Given the description of an element on the screen output the (x, y) to click on. 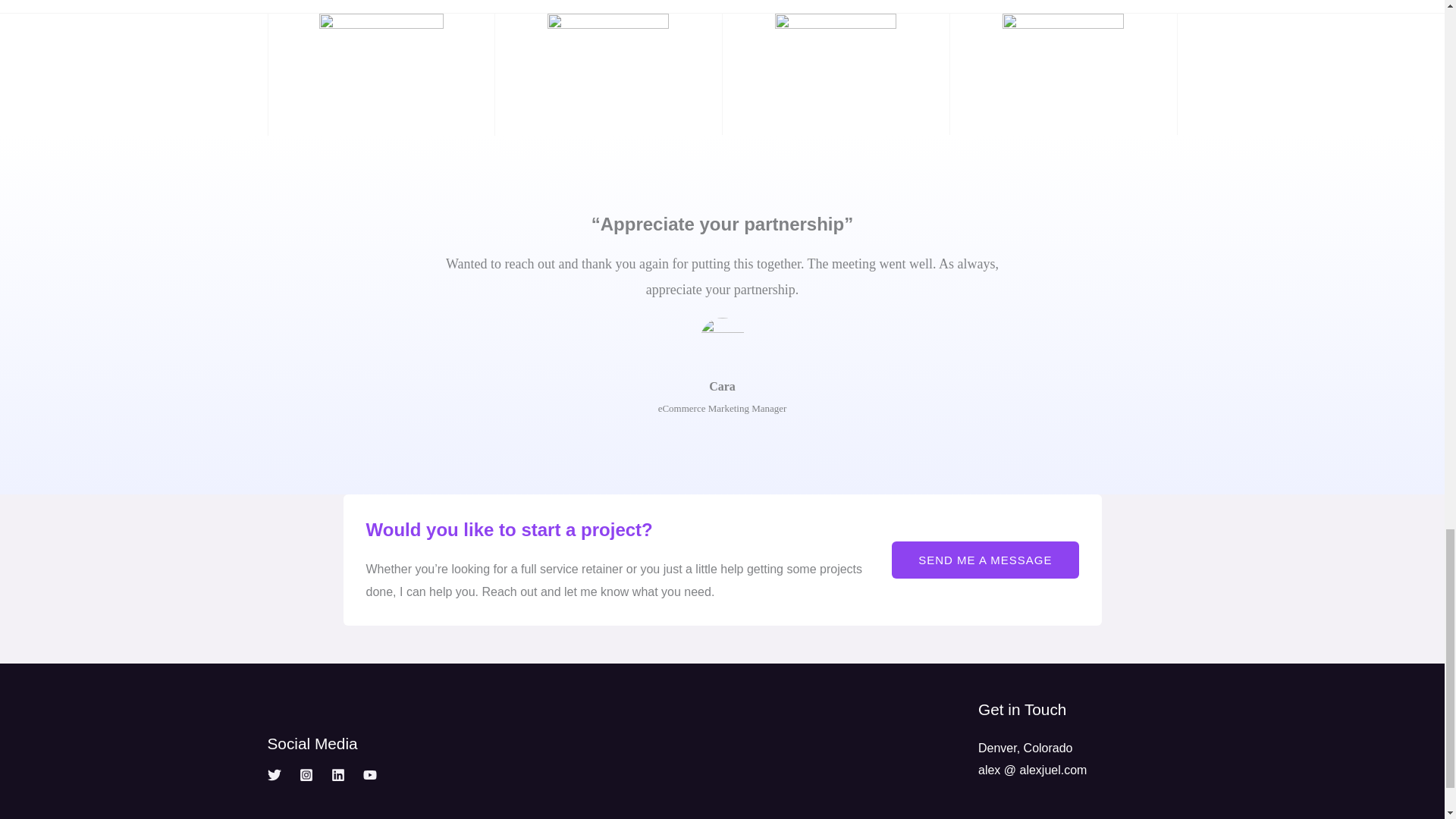
SEND ME A MESSAGE (984, 559)
